Given the description of an element on the screen output the (x, y) to click on. 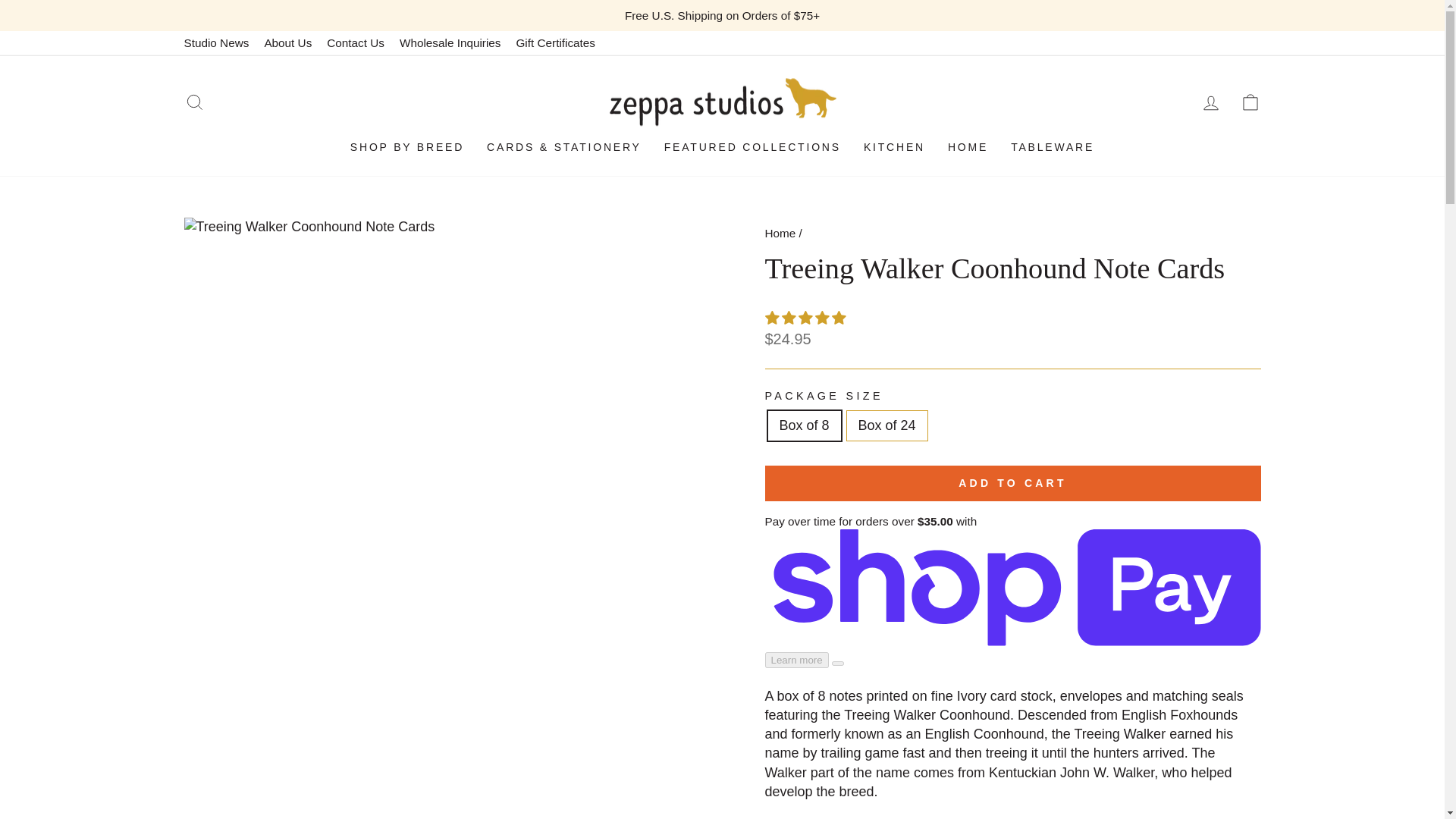
Back to the frontpage (779, 232)
